Given the description of an element on the screen output the (x, y) to click on. 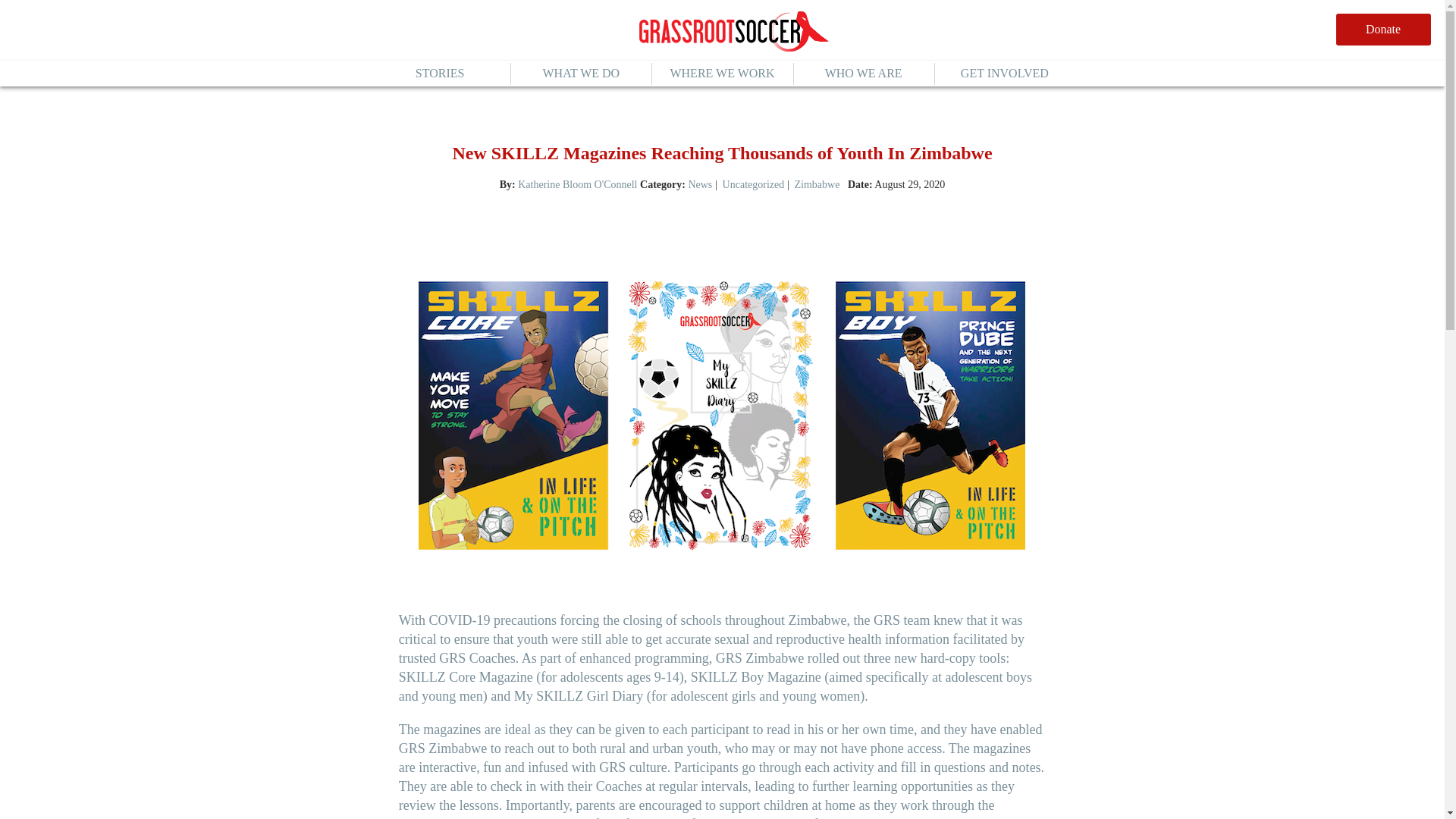
Katherine Bloom O'Connell (577, 184)
Asset 1 (733, 31)
News (699, 184)
Asset 1 (733, 33)
Donate (1383, 29)
